Given the description of an element on the screen output the (x, y) to click on. 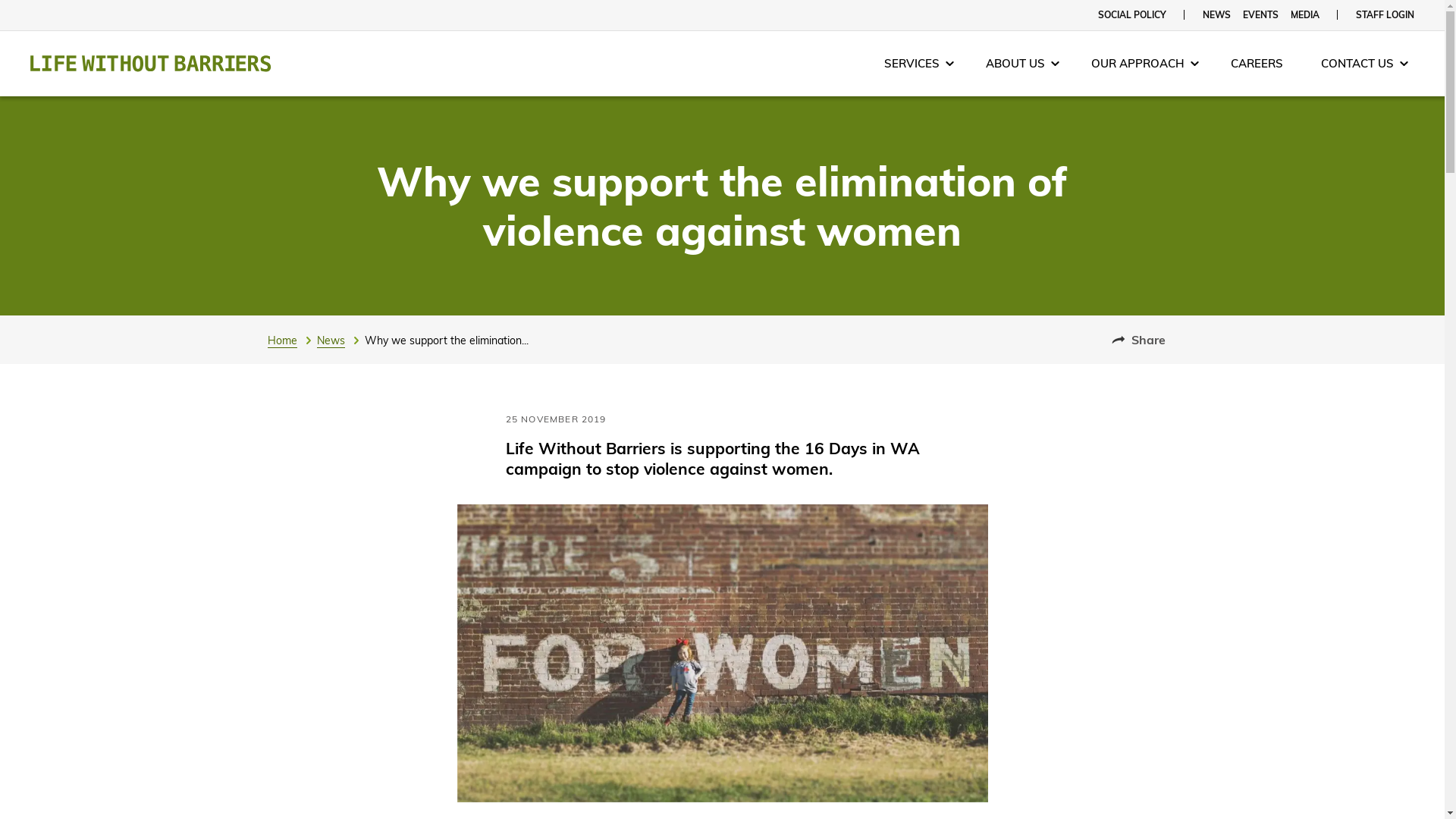
News Element type: text (340, 339)
Home Element type: text (291, 339)
SOCIAL POLICY Element type: text (1132, 15)
STAFF LOGIN Element type: text (1384, 15)
MEDIA Element type: text (1304, 15)
Life Without Barriers Element type: hover (150, 63)
EVENTS Element type: text (1260, 15)
NEWS Element type: text (1216, 15)
CAREERS Element type: text (1259, 63)
Share Element type: text (1138, 339)
